Given the description of an element on the screen output the (x, y) to click on. 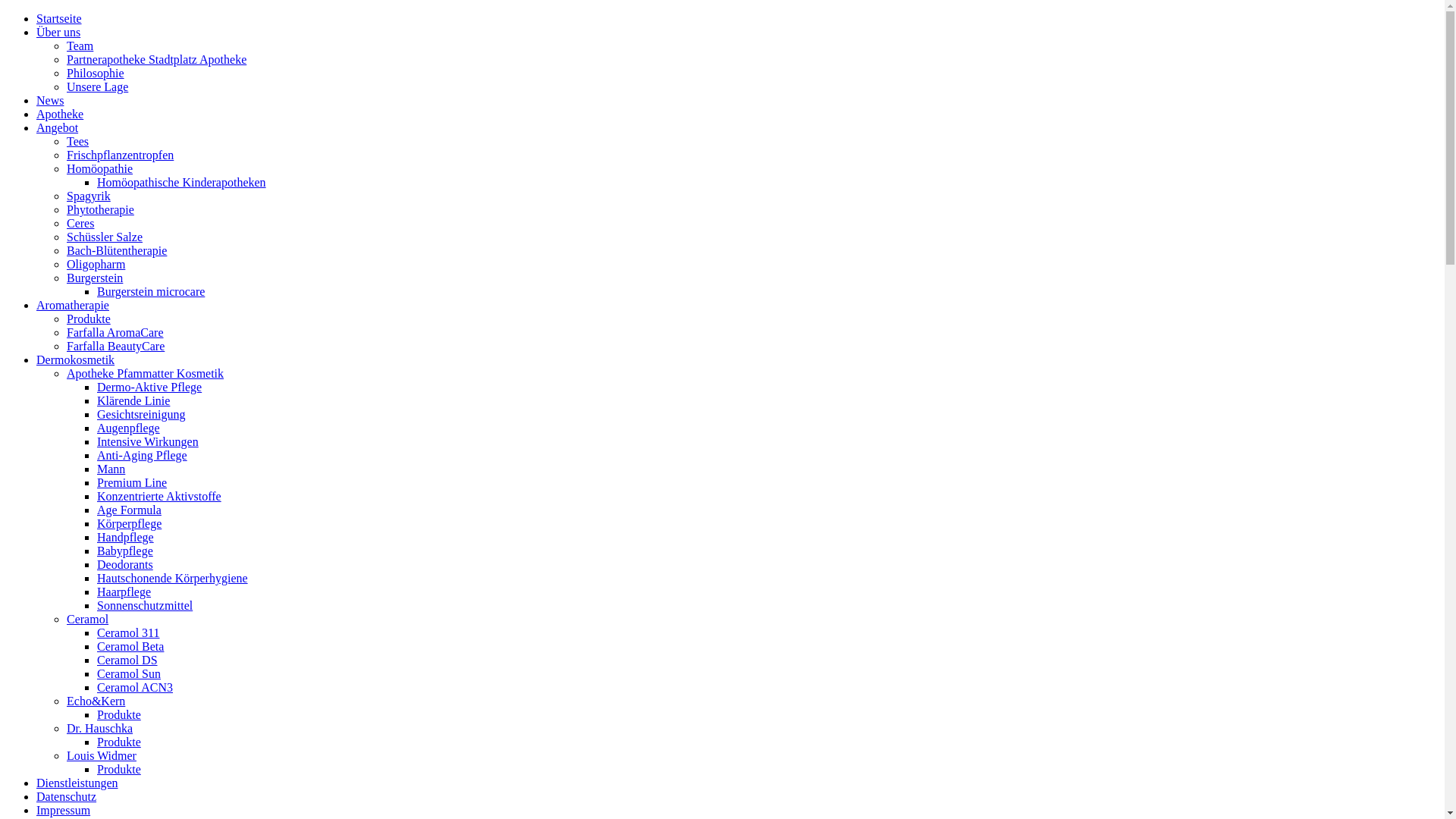
Unsere Lage Element type: text (97, 86)
Dermokosmetik Element type: text (75, 359)
Partnerapotheke Stadtplatz Apotheke Element type: text (156, 59)
Augenpflege Element type: text (128, 427)
Philosophie Element type: text (95, 72)
Gesichtsreinigung Element type: text (141, 413)
Ceramol Sun Element type: text (128, 673)
Sonnenschutzmittel Element type: text (144, 605)
Farfalla BeautyCare Element type: text (115, 345)
Produkte Element type: text (88, 318)
Dermo-Aktive Pflege Element type: text (149, 386)
Intensive Wirkungen Element type: text (147, 441)
Ceramol ACN3 Element type: text (134, 686)
News Element type: text (49, 100)
Aromatherapie Element type: text (72, 304)
Spagyrik Element type: text (88, 195)
Burgerstein microcare Element type: text (150, 291)
Team Element type: text (79, 45)
Handpflege Element type: text (125, 536)
Produkte Element type: text (119, 741)
Phytotherapie Element type: text (100, 209)
Tees Element type: text (77, 140)
Datenschutz Element type: text (66, 796)
Babypflege Element type: text (125, 550)
Ceramol Beta Element type: text (130, 646)
Louis Widmer Element type: text (101, 755)
Oligopharm Element type: text (95, 263)
Startseite Element type: text (58, 18)
Anti-Aging Pflege Element type: text (142, 454)
Burgerstein Element type: text (94, 277)
Ceramol DS Element type: text (127, 659)
Impressum Element type: text (63, 809)
Mann Element type: text (111, 468)
Angebot Element type: text (57, 127)
Ceres Element type: text (80, 222)
Farfalla AromaCare Element type: text (114, 332)
Age Formula Element type: text (129, 509)
Produkte Element type: text (119, 768)
Konzentrierte Aktivstoffe Element type: text (159, 495)
Apotheke Element type: text (59, 113)
Produkte Element type: text (119, 714)
Dienstleistungen Element type: text (77, 782)
Haarpflege Element type: text (123, 591)
Deodorants Element type: text (125, 564)
Frischpflanzentropfen Element type: text (119, 154)
Premium Line Element type: text (131, 482)
Dr. Hauschka Element type: text (99, 727)
Ceramol Element type: text (87, 618)
Apotheke Pfammatter Kosmetik Element type: text (144, 373)
Ceramol 311 Element type: text (128, 632)
Echo&Kern Element type: text (95, 700)
